Given the description of an element on the screen output the (x, y) to click on. 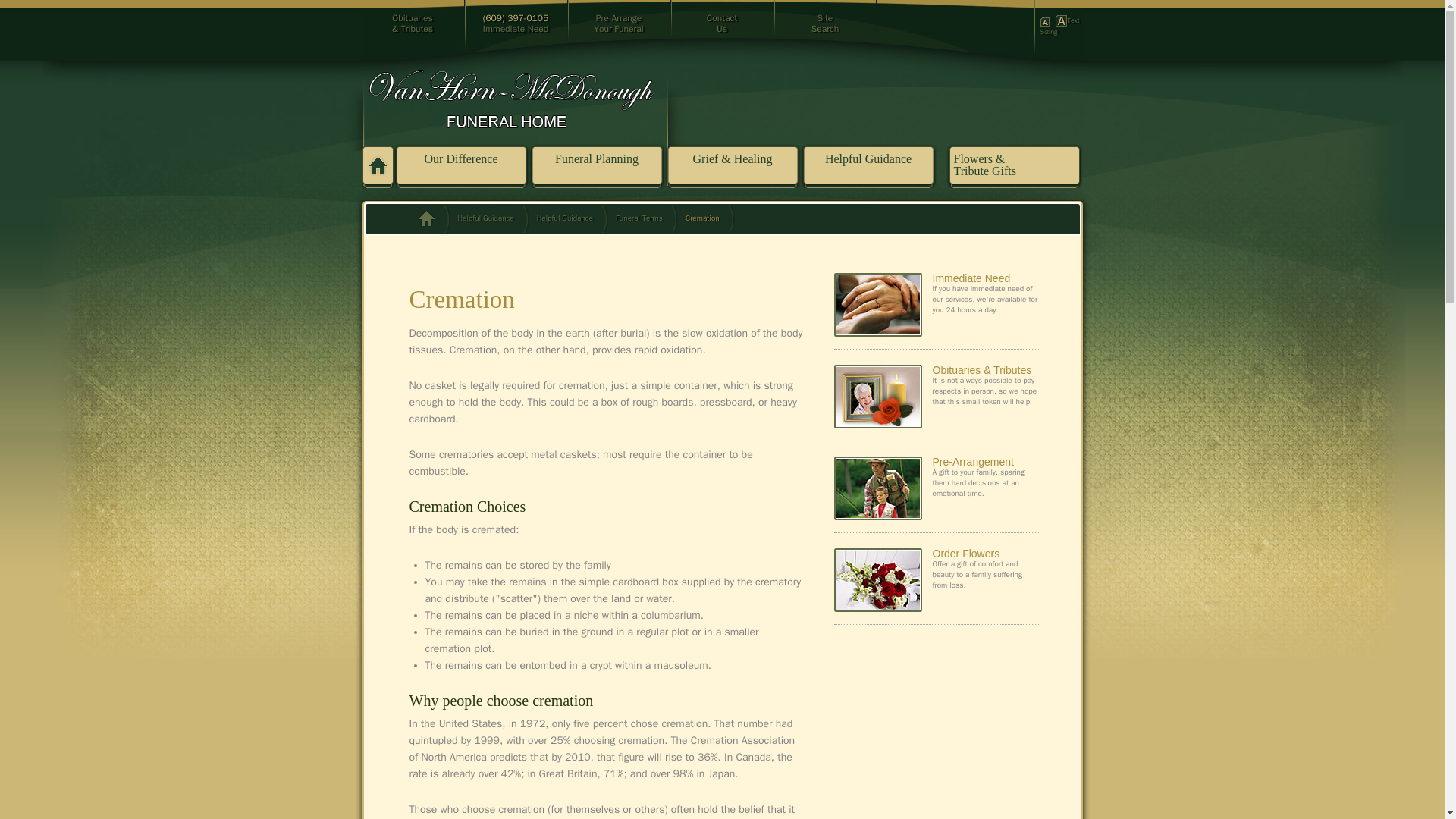
Decrease Font Size (618, 23)
Our Difference (1047, 20)
Increase Font Size (460, 159)
